Given the description of an element on the screen output the (x, y) to click on. 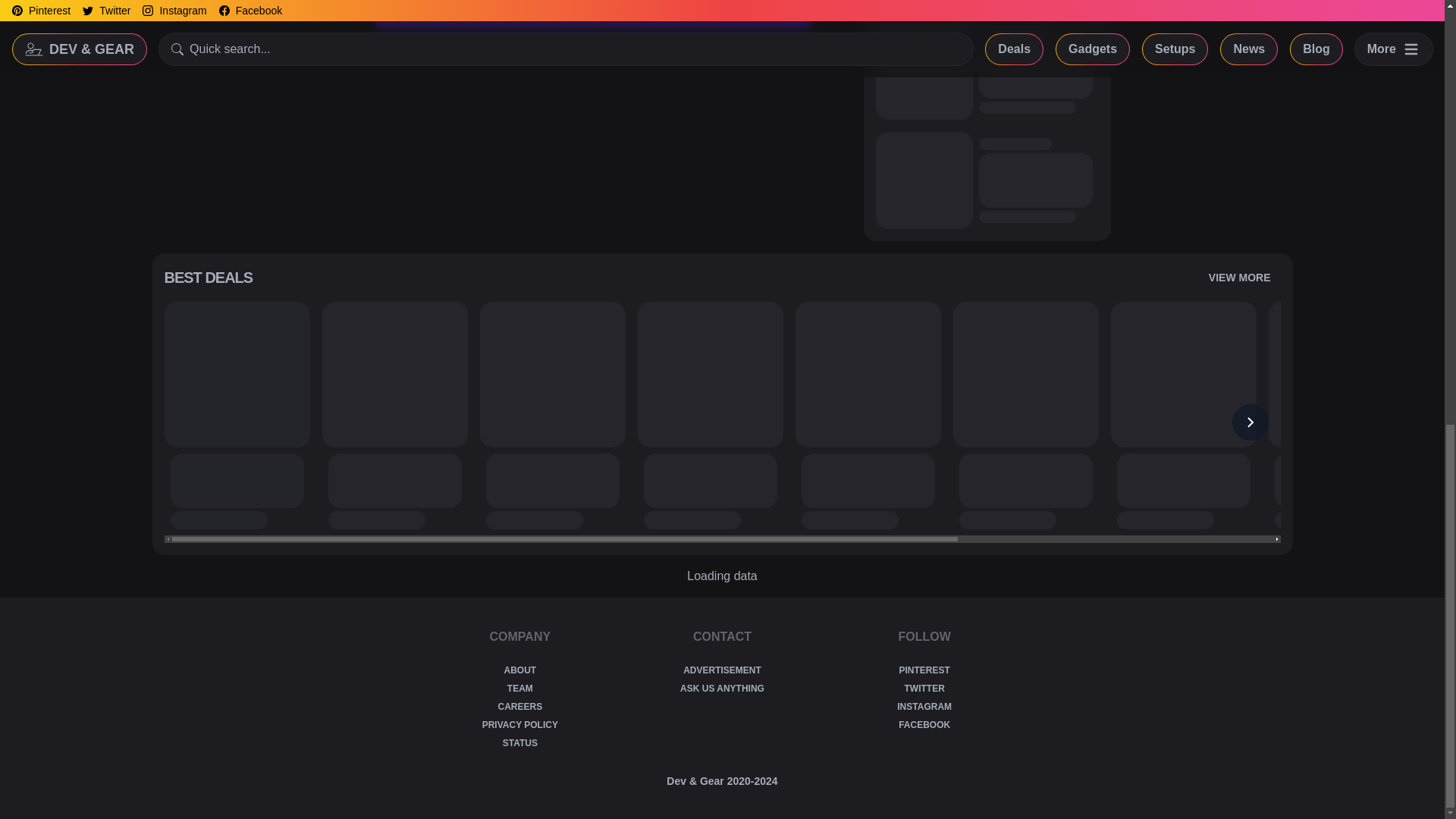
VIEW MORE (1239, 277)
CONTINUE READING (593, 14)
